Given the description of an element on the screen output the (x, y) to click on. 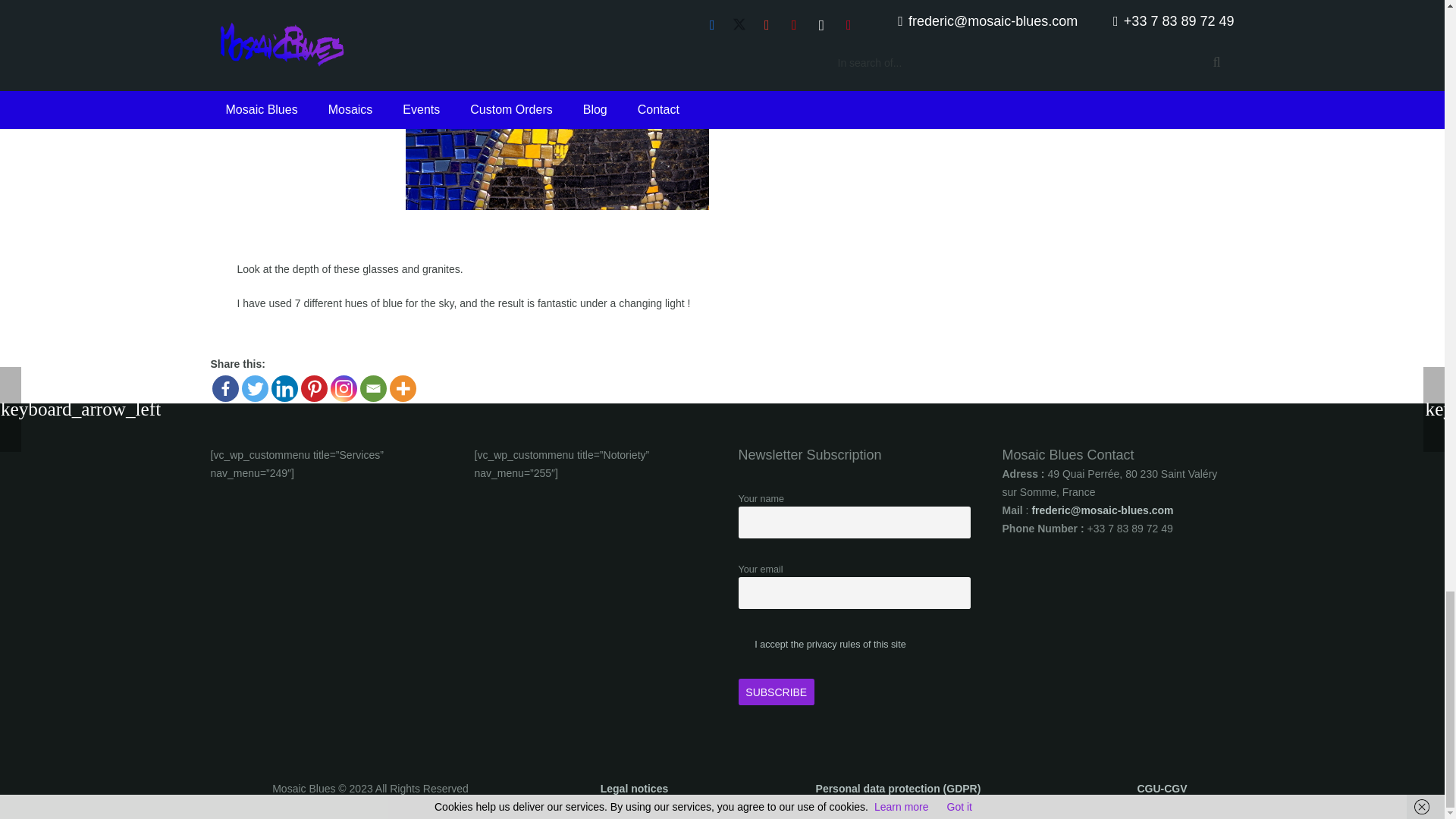
Twitter (254, 388)
Instagram (343, 388)
Email (372, 388)
Linkedin (284, 388)
More (403, 388)
Pinterest (312, 388)
Facebook (225, 388)
